Given the description of an element on the screen output the (x, y) to click on. 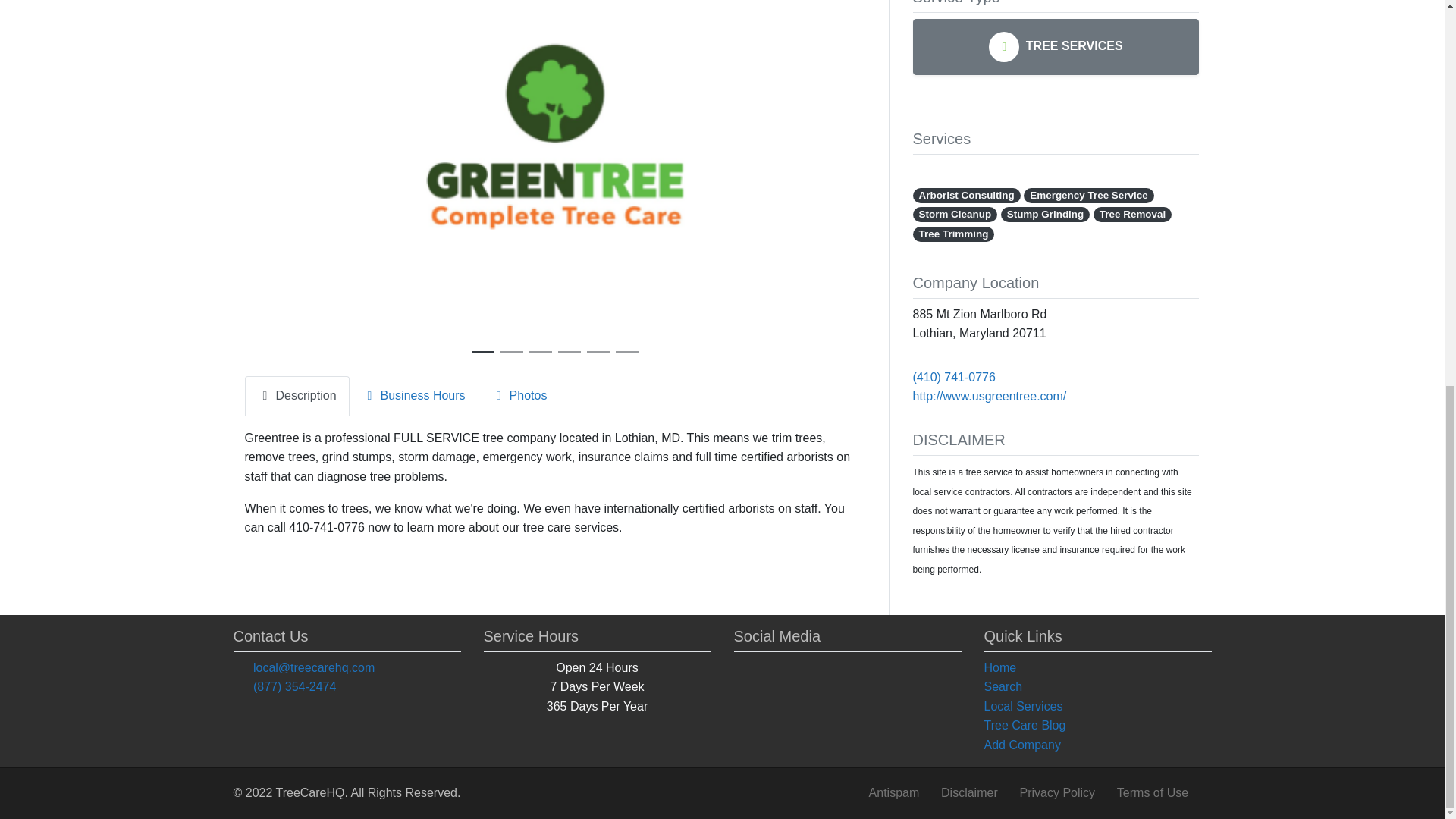
Home (1097, 668)
Arborist Consulting (966, 195)
Photos (519, 395)
Emergency Tree Service (1088, 195)
Stump Grinding (1045, 214)
Local Services (1097, 706)
Storm Cleanup (954, 214)
Tree Removal (1132, 214)
Search (1097, 686)
Description (296, 395)
